Given the description of an element on the screen output the (x, y) to click on. 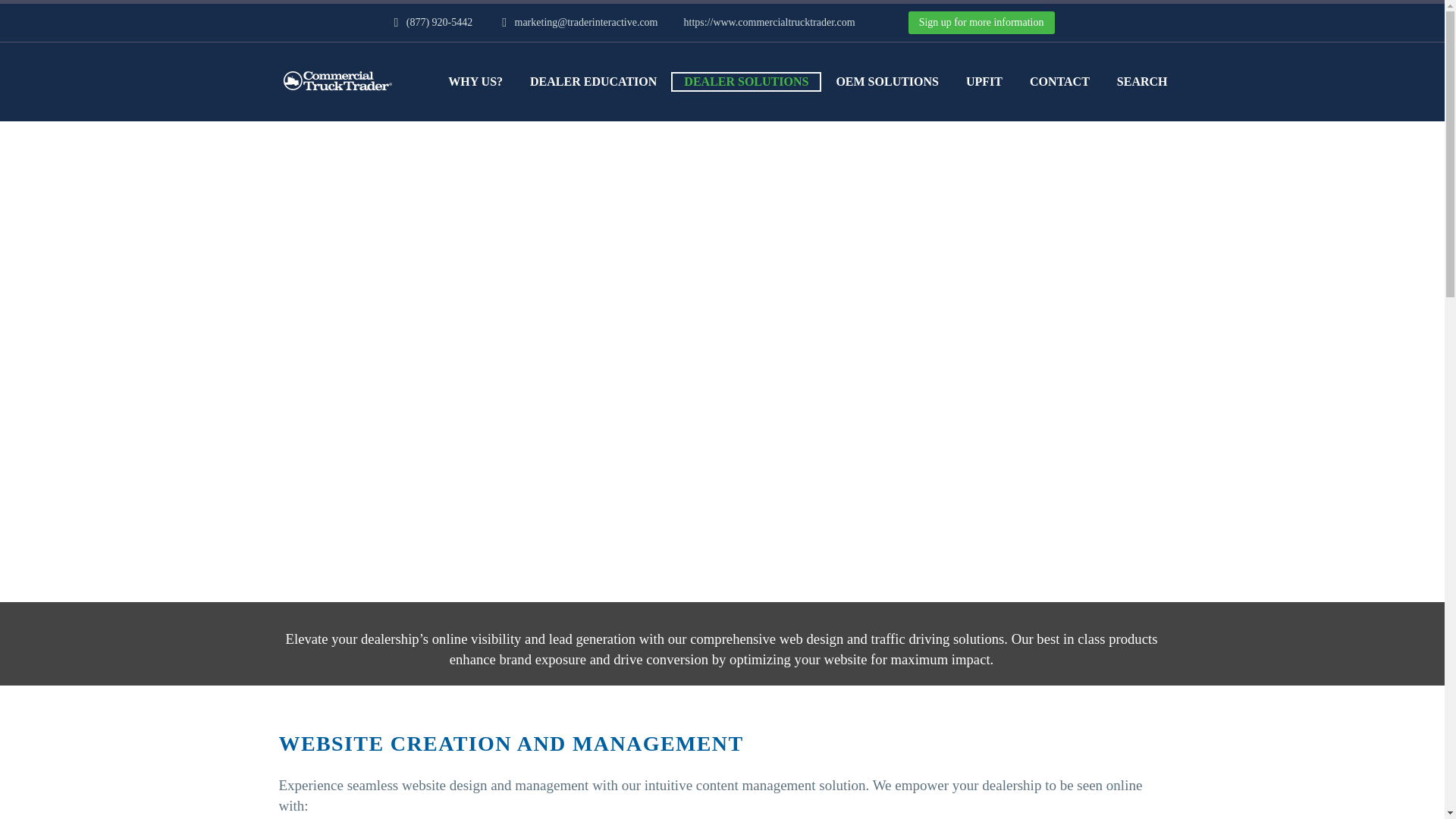
Sign up for more information (981, 22)
DEALER SOLUTIONS (746, 81)
UPFIT (984, 81)
CONTACT (1058, 81)
SEARCH (1142, 81)
Top (1408, 782)
Scroll to Top (1408, 782)
WHY US? (474, 81)
DEALER EDUCATION (593, 81)
OEM SOLUTIONS (887, 81)
